Given the description of an element on the screen output the (x, y) to click on. 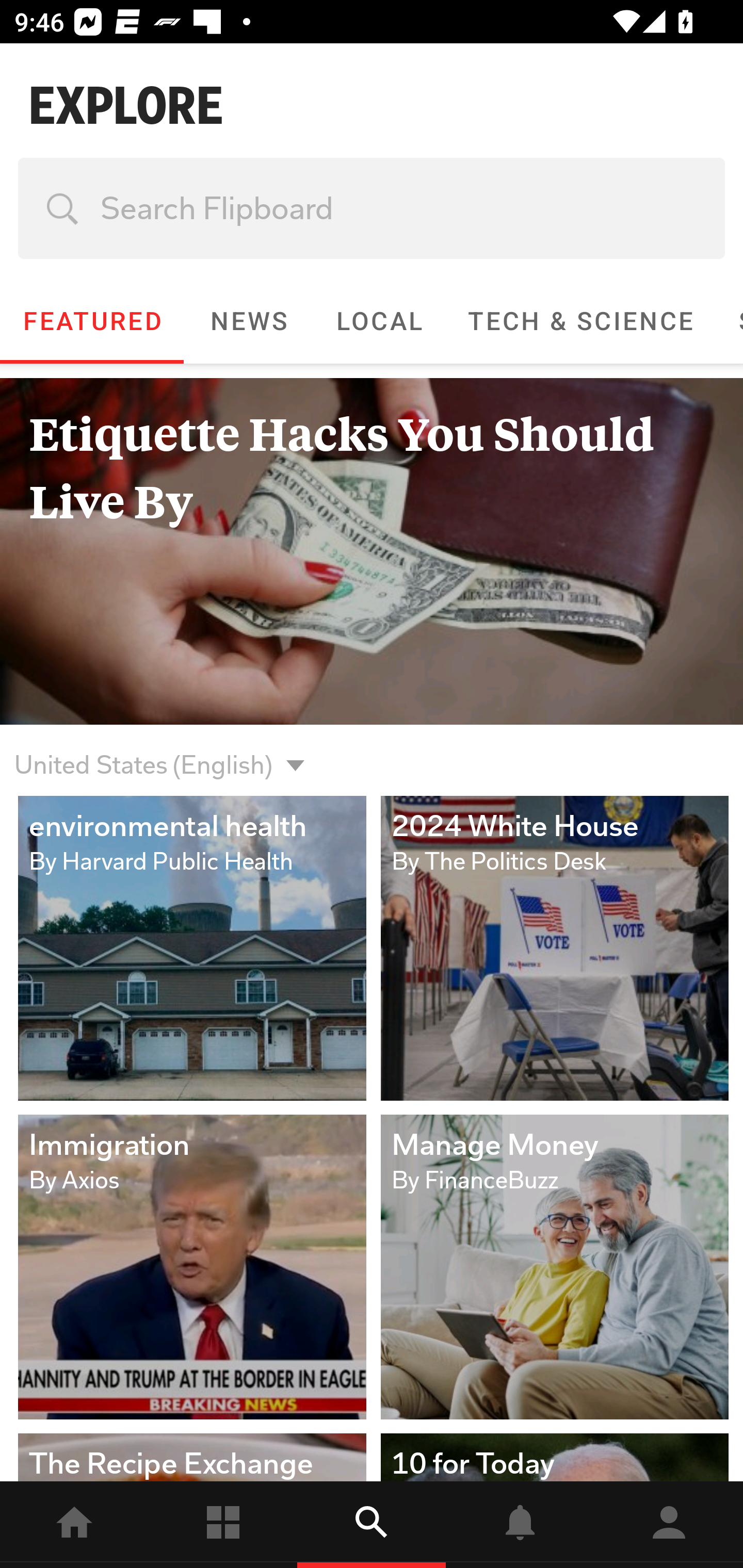
Search Flipboard (371, 208)
News NEWS (248, 320)
Local LOCAL (379, 320)
Tech & Science TECH & SCIENCE (580, 320)
United States (English) (143, 753)
home (74, 1524)
Following (222, 1524)
explore (371, 1524)
Notifications (519, 1524)
Profile (668, 1524)
